Given the description of an element on the screen output the (x, y) to click on. 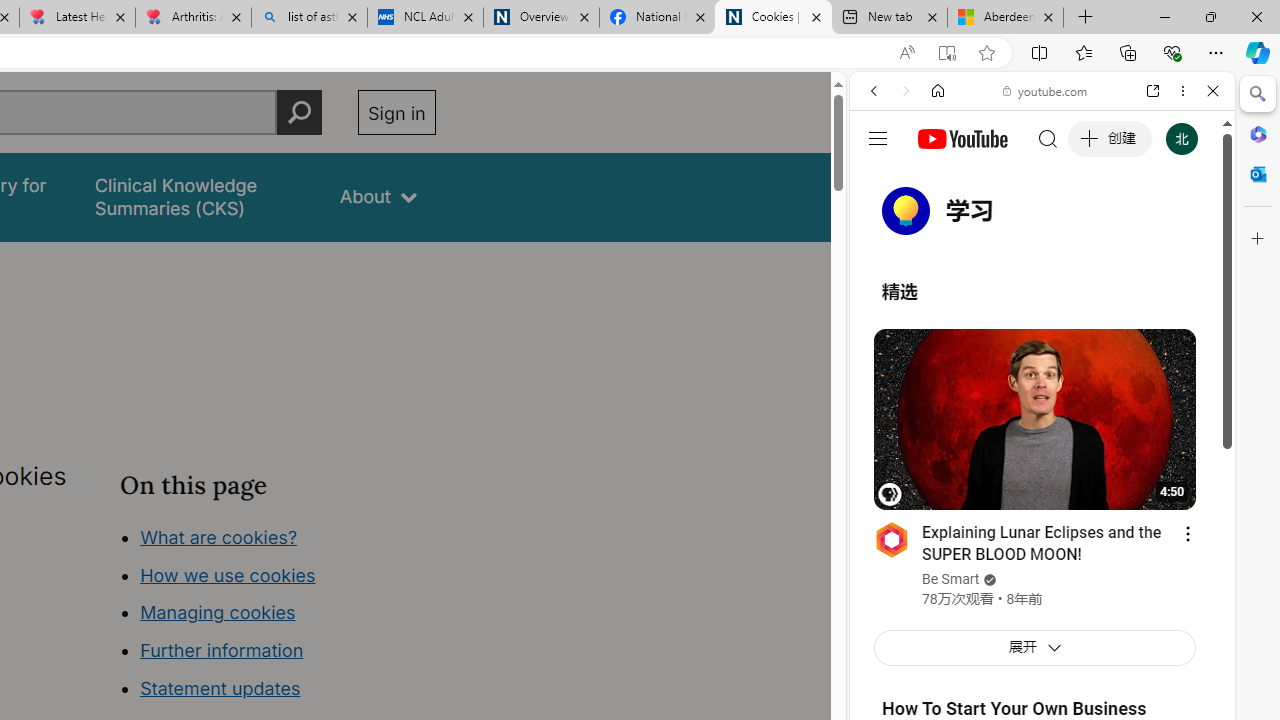
Trailer #2 [HD] (1042, 592)
Be Smart (950, 580)
Class: in-page-nav__list (277, 615)
